Given the description of an element on the screen output the (x, y) to click on. 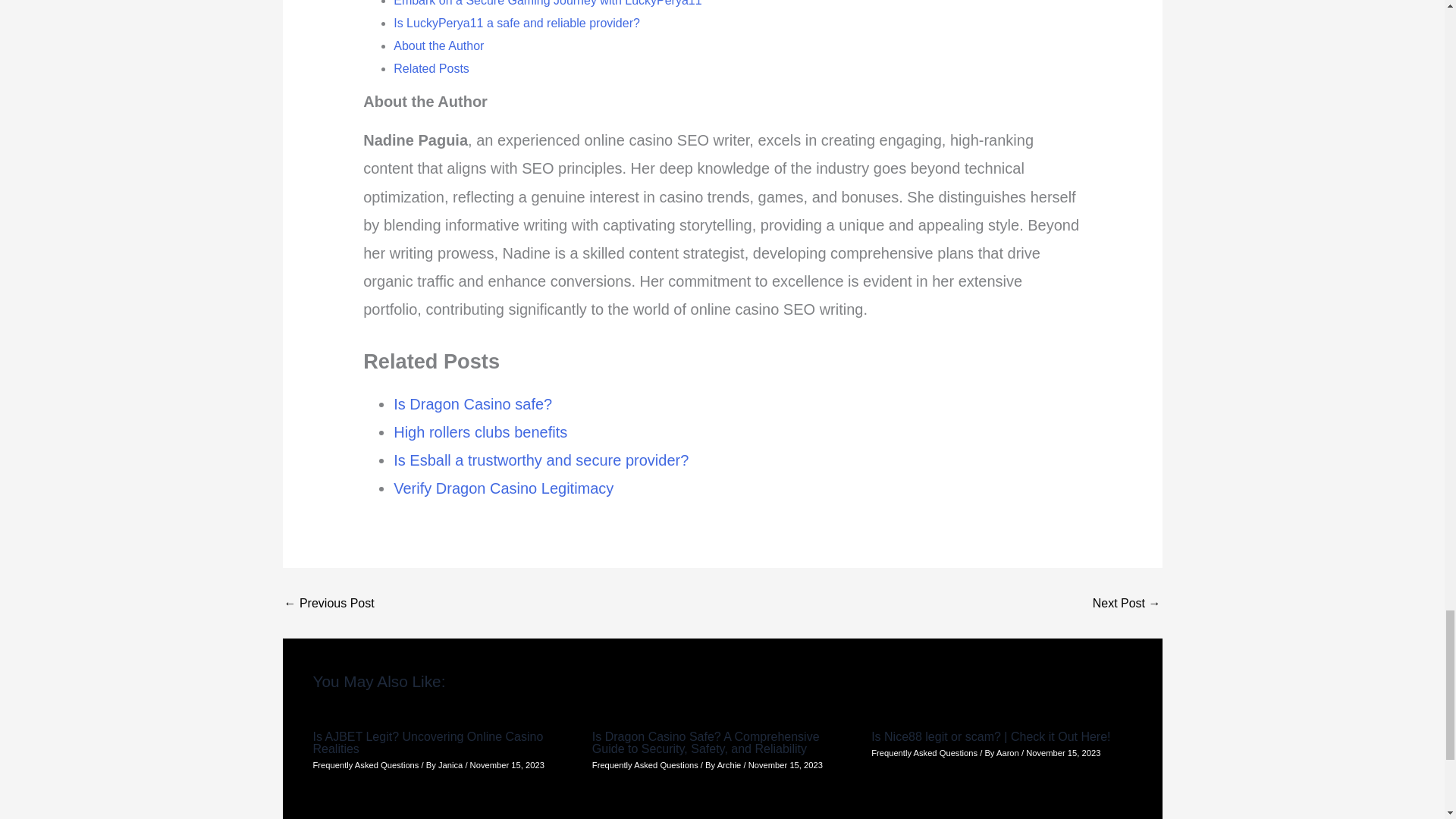
View all posts by Aaron (1008, 752)
View all posts by Janica (451, 764)
View all posts by Archie (730, 764)
Frequently Asked Questions (366, 764)
Is Dragon Casino safe? (472, 403)
Is Esball a trustworthy and secure provider? (540, 460)
Aaron (1008, 752)
Verify Dragon Casino Legitimacy (502, 487)
Is LuckyPerya11 a safe and reliable provider? (516, 22)
Archie (730, 764)
Frequently Asked Questions (645, 764)
About the Author (438, 45)
Related Posts (430, 68)
Frequently Asked Questions (923, 752)
